Given the description of an element on the screen output the (x, y) to click on. 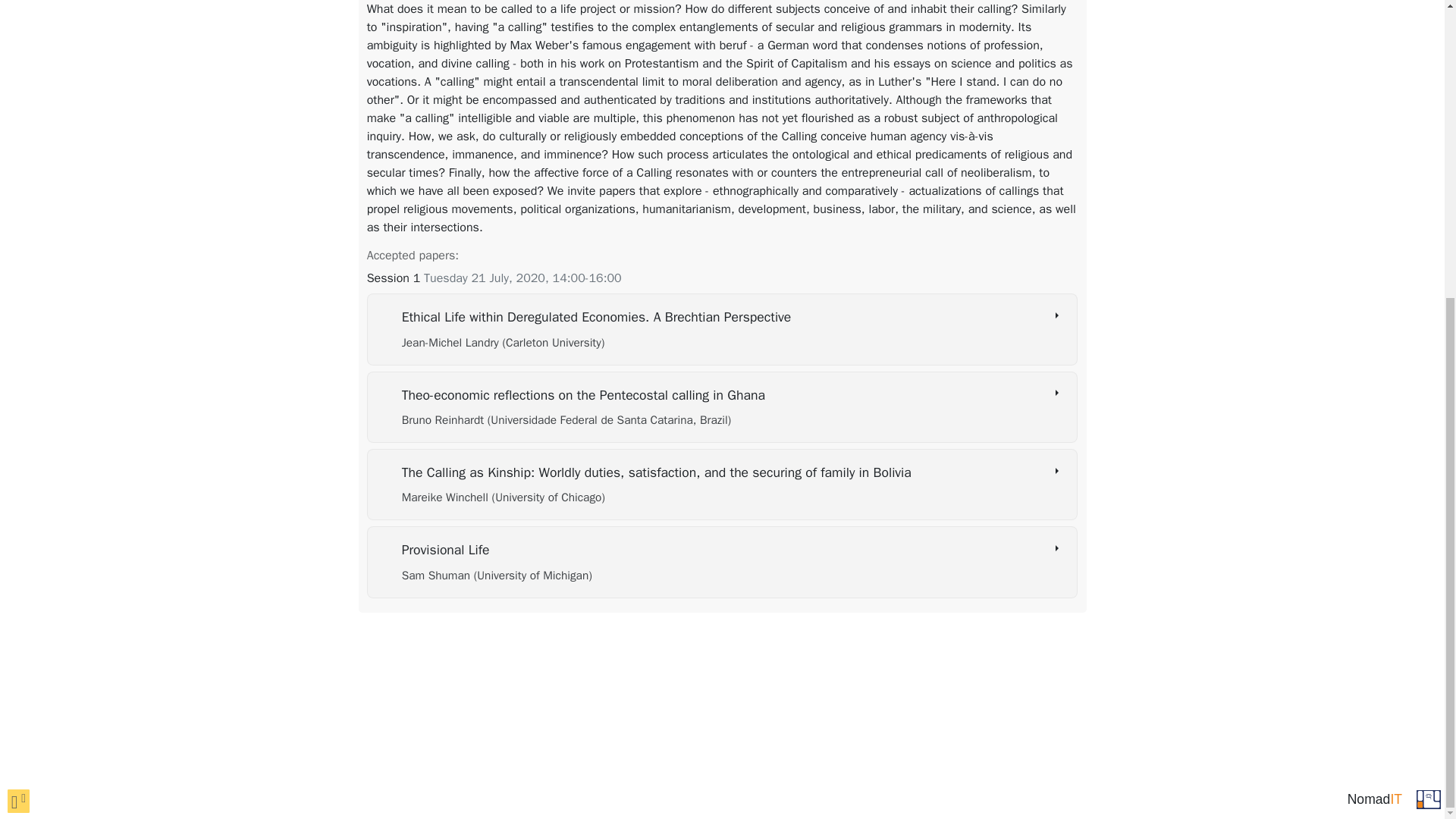
All conferences (1428, 337)
Author (503, 342)
NomadIT (1374, 338)
Author (496, 575)
Author (566, 419)
click to toggle popover (17, 340)
Author (503, 497)
